Given the description of an element on the screen output the (x, y) to click on. 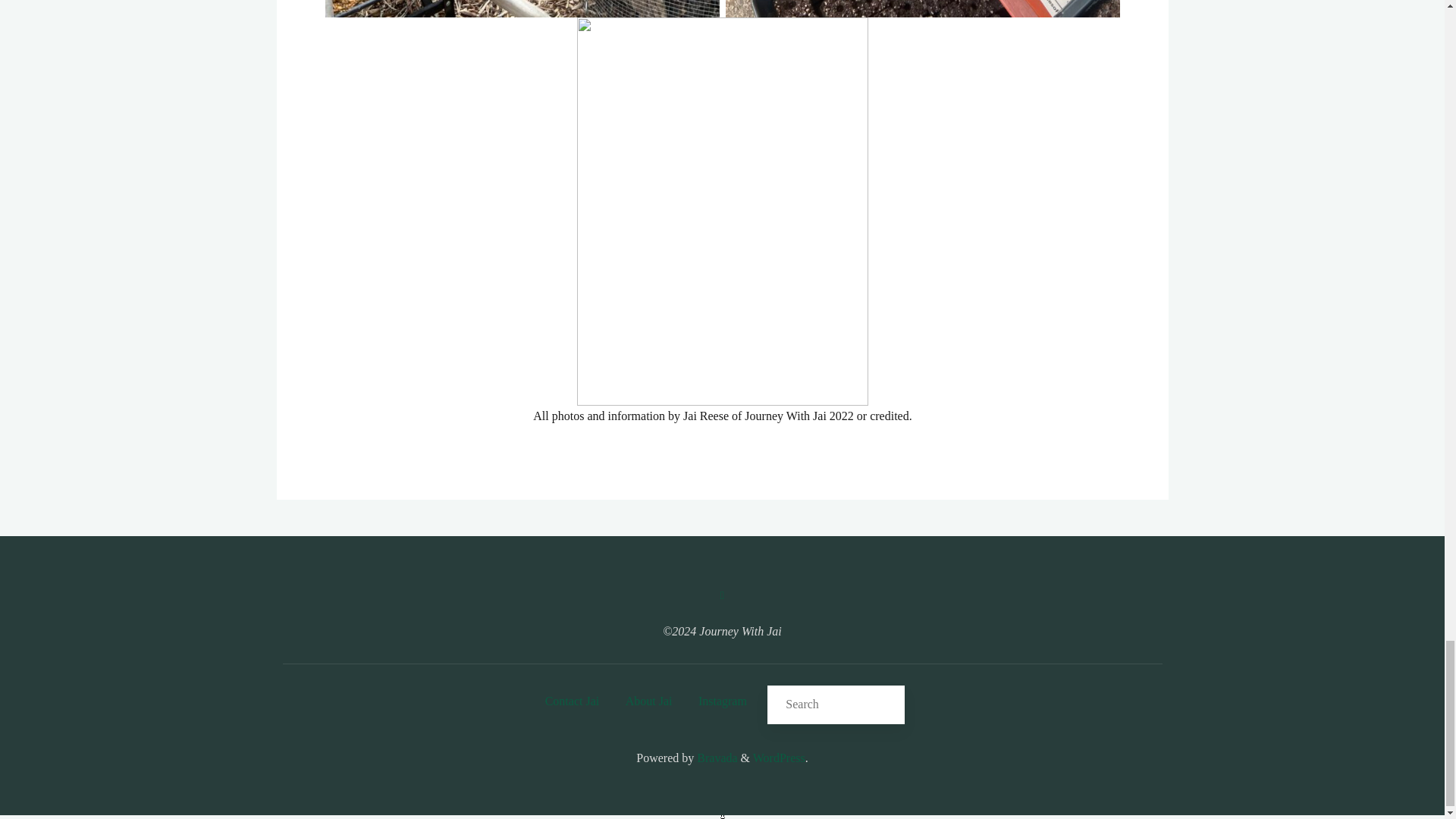
Bravada WordPress Theme by Cryout Creations (715, 757)
Semantic Personal Publishing Platform (778, 757)
Instagram (721, 594)
